Given the description of an element on the screen output the (x, y) to click on. 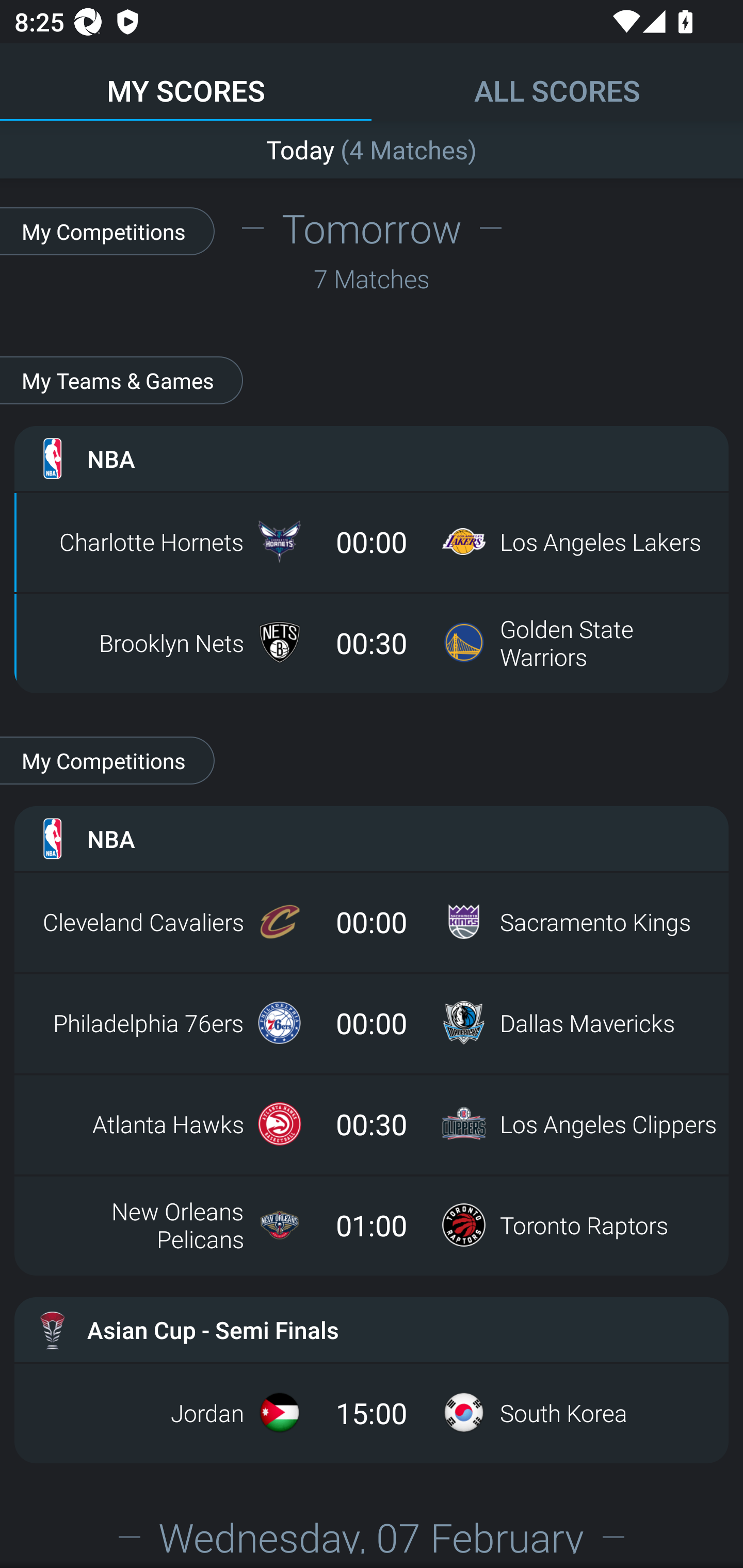
MY SCORES (185, 81)
ALL SCORES (557, 81)
NBA (371, 458)
Charlotte Hornets 00:00 Los Angeles Lakers (371, 541)
Brooklyn Nets 00:30 Golden State Warriors (371, 642)
NBA (371, 838)
Cleveland Cavaliers 00:00 Sacramento Kings (371, 921)
Philadelphia 76ers 00:00 Dallas Mavericks (371, 1023)
Atlanta Hawks 00:30 Los Angeles Clippers (371, 1124)
New Orleans Pelicans 01:00 Toronto Raptors (371, 1224)
Asian Cup - Semi Finals (371, 1329)
Jordan 15:00 South Korea (371, 1412)
